Given the description of an element on the screen output the (x, y) to click on. 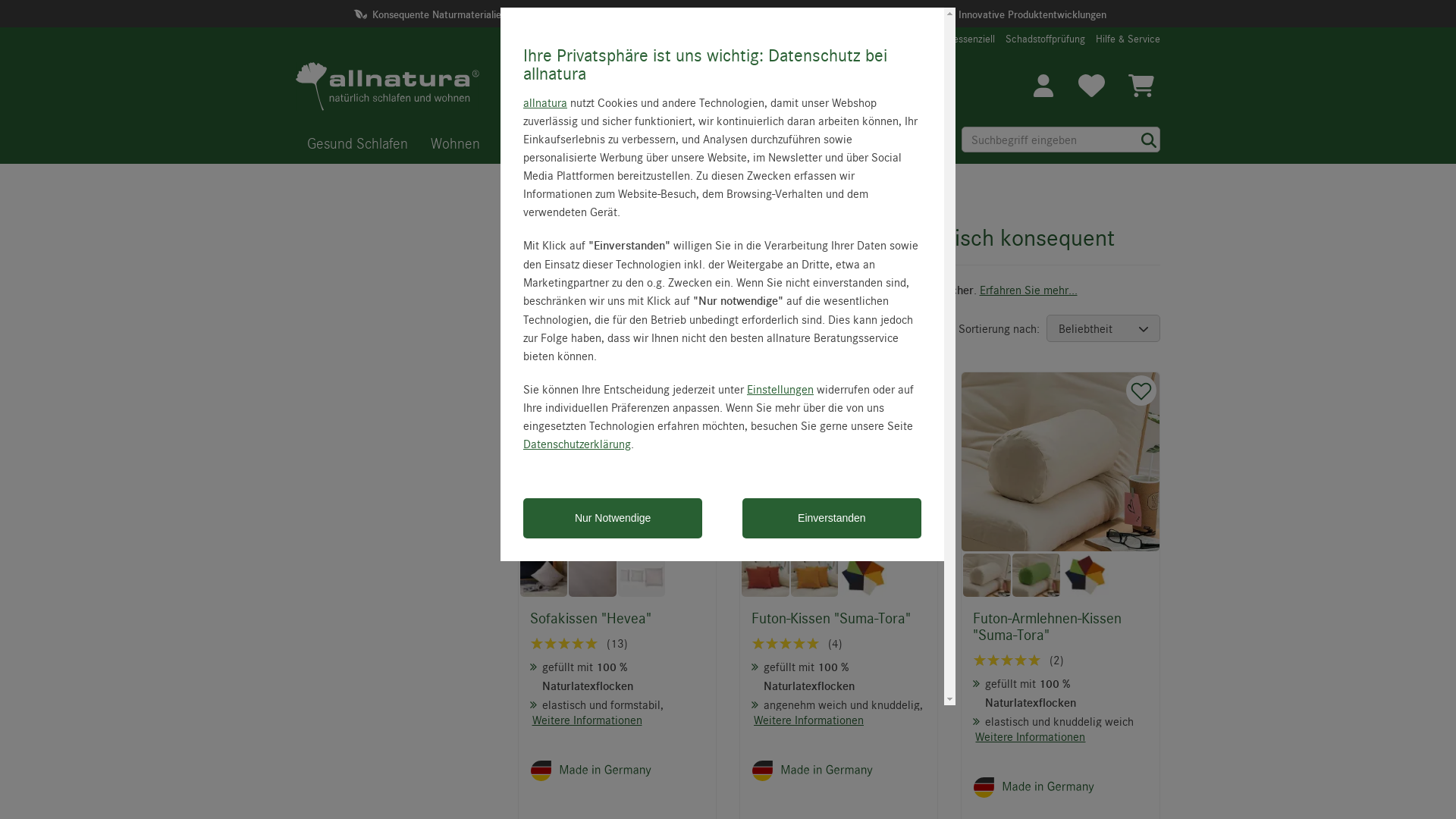
Suchen Element type: hover (1148, 139)
Futon-Armlehnen-Kissen "Suma-Tora"
  Element type: hover (1059, 462)
Wohntextilien Element type: text (648, 192)
Made in Germany Element type: hover (836, 770)
Nur Notwendige Element type: text (612, 518)
Alle Farben Element type: hover (863, 574)
Futon-Kissen Suma-Tora mit Bezug in Farbe terracotta Element type: hover (765, 574)
Angebote Element type: text (815, 142)
Bezug aus naturbelassenem Baumwoll-Nesselstoff Element type: hover (592, 574)
Sofakissen Element type: text (713, 192)
Futon-Kissen Suma-Tora mit Bezug in Farbe ocker Element type: hover (814, 574)
Futon-Armlehnen-Kissen "Suma-Tora" Element type: text (1059, 626)
Beliebtheit Element type: text (1103, 328)
Heimtextilien Element type: text (579, 192)
Gesund Schlafen Element type: text (357, 142)
Sofakissen "Hevea" Element type: text (616, 617)
... Element type: text (523, 192)
Kind & Jugend Element type: text (544, 142)
Wohnen Element type: text (455, 142)
Made in Germany Element type: hover (614, 770)
Einstellungen Element type: text (779, 388)
Einverstanden Element type: text (831, 518)
Futon-Kissen "Suma-Tora" Element type: text (838, 617)
Futon-Kissen "Suma-Tora"
  Element type: hover (838, 462)
Erfahren Sie mehr... Element type: text (1028, 289)
Hilfe & Service Element type: text (1127, 38)
Sofakissen "Hevea"
  Element type: hover (616, 462)
Alle Farben Element type: hover (1085, 574)
Ratgeber Element type: text (737, 142)
Made in Germany Element type: hover (1057, 787)
Startseite Element type: hover (534, 192)
allnatura Element type: text (545, 101)
allnatura essenziell Element type: text (953, 38)
Heimtextilien Element type: text (648, 142)
